Given the description of an element on the screen output the (x, y) to click on. 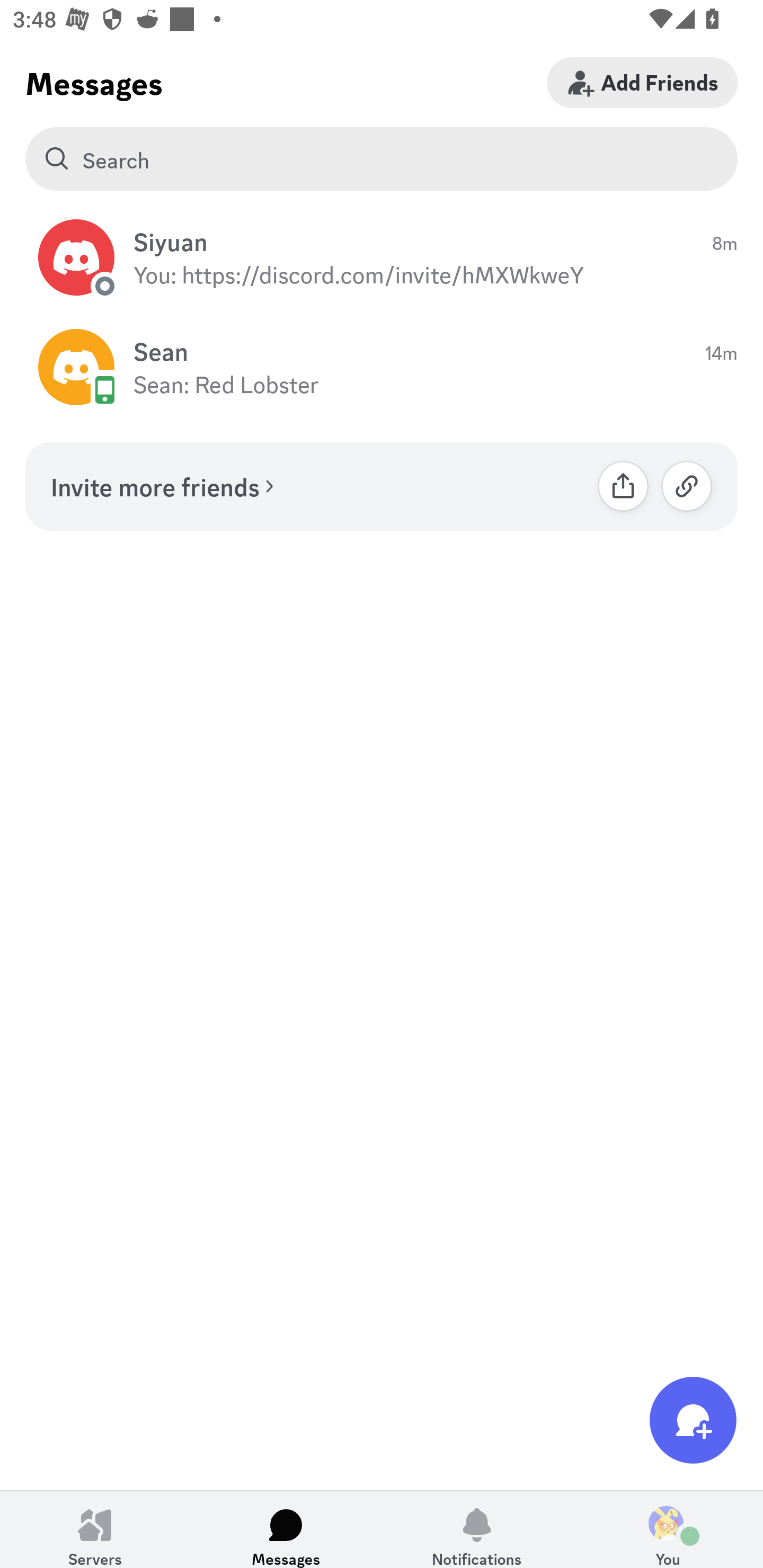
Add Friends (642, 82)
Search (381, 159)
Sean (direct message) Sean 14m Sean: Red Lobster (381, 367)
Share Link (622, 485)
Copy Link (686, 485)
New Message (692, 1419)
Servers (95, 1529)
Messages (285, 1529)
Notifications (476, 1529)
You (667, 1529)
